Given the description of an element on the screen output the (x, y) to click on. 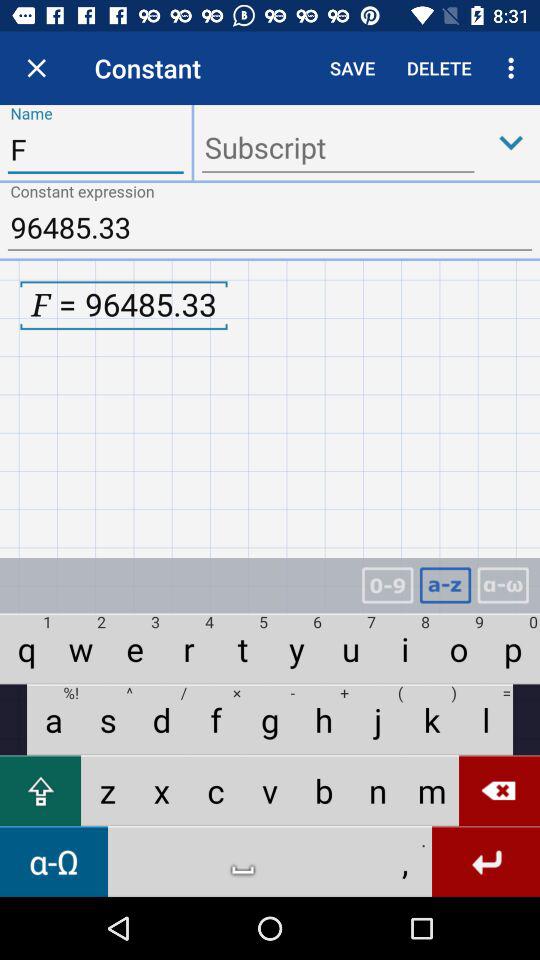
go to down (511, 142)
